Given the description of an element on the screen output the (x, y) to click on. 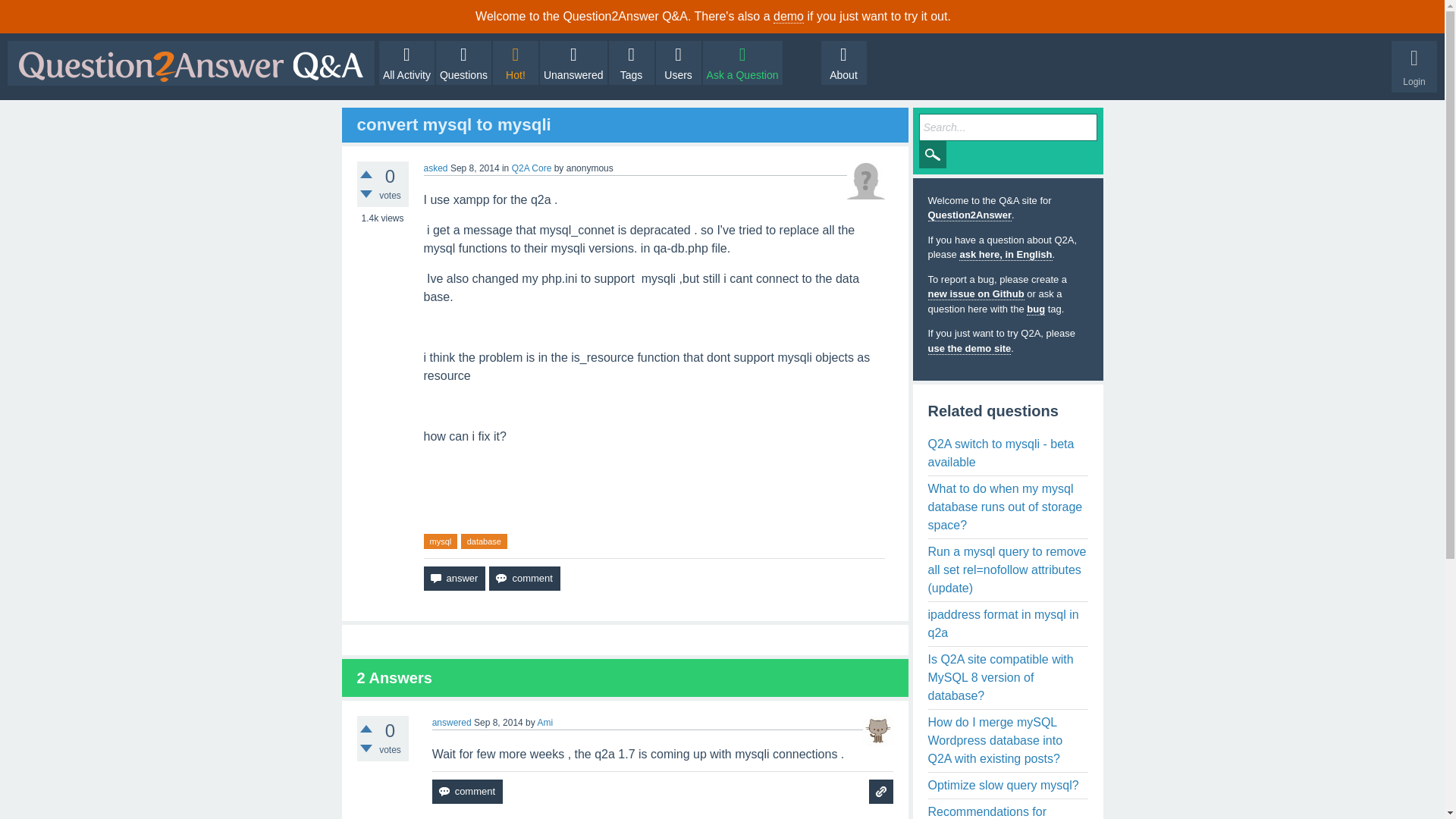
Tags (630, 62)
Ask a Question (743, 62)
Click to vote up (365, 174)
X (1427, 16)
ask related question (881, 791)
ask related question (881, 791)
answer (453, 578)
Click to vote down (365, 194)
demo (788, 16)
All Activity (405, 62)
database (483, 541)
About (843, 62)
comment (467, 791)
Ami (545, 722)
Users (678, 62)
